Given the description of an element on the screen output the (x, y) to click on. 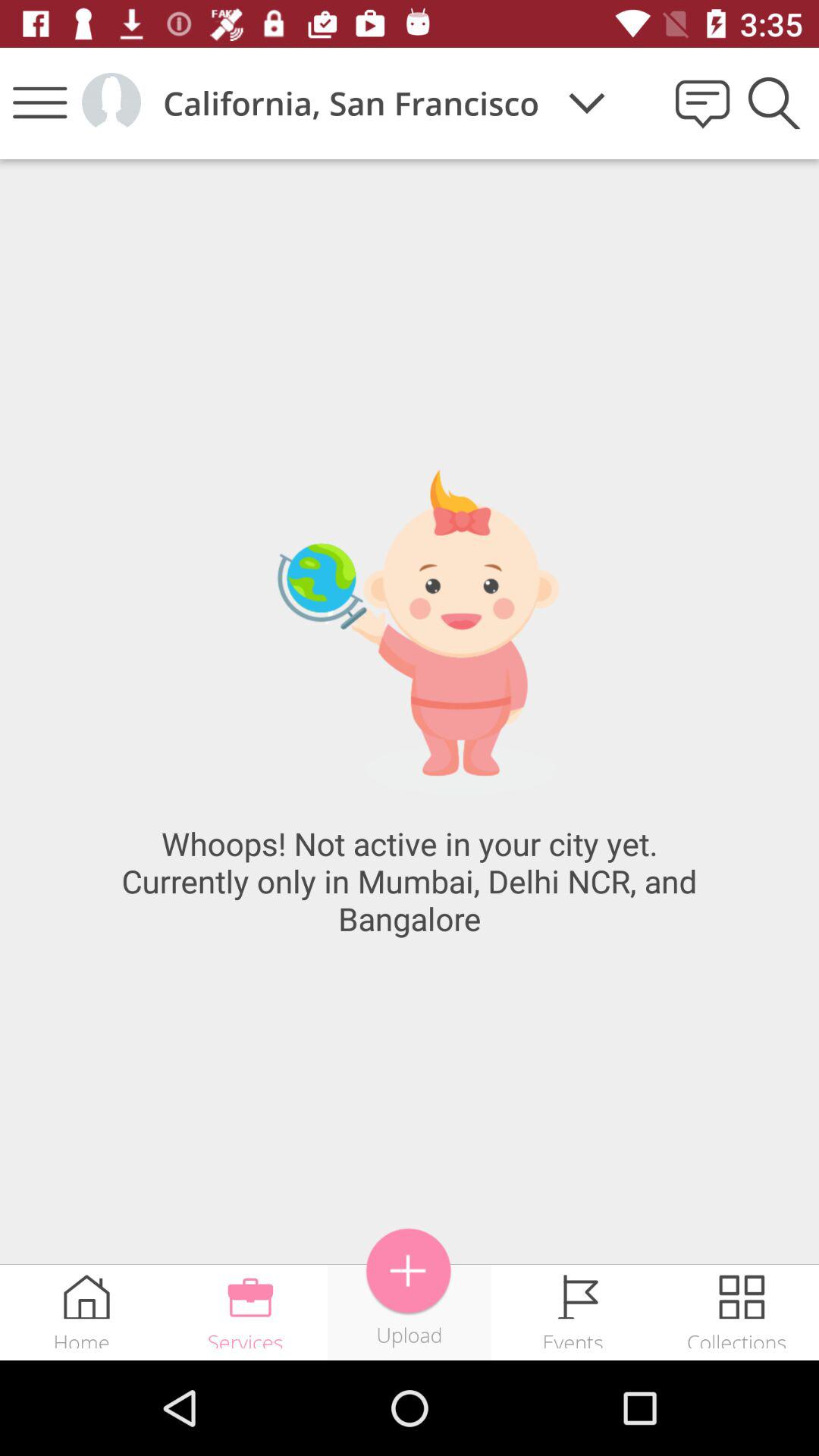
tap icon next to events item (408, 1271)
